Given the description of an element on the screen output the (x, y) to click on. 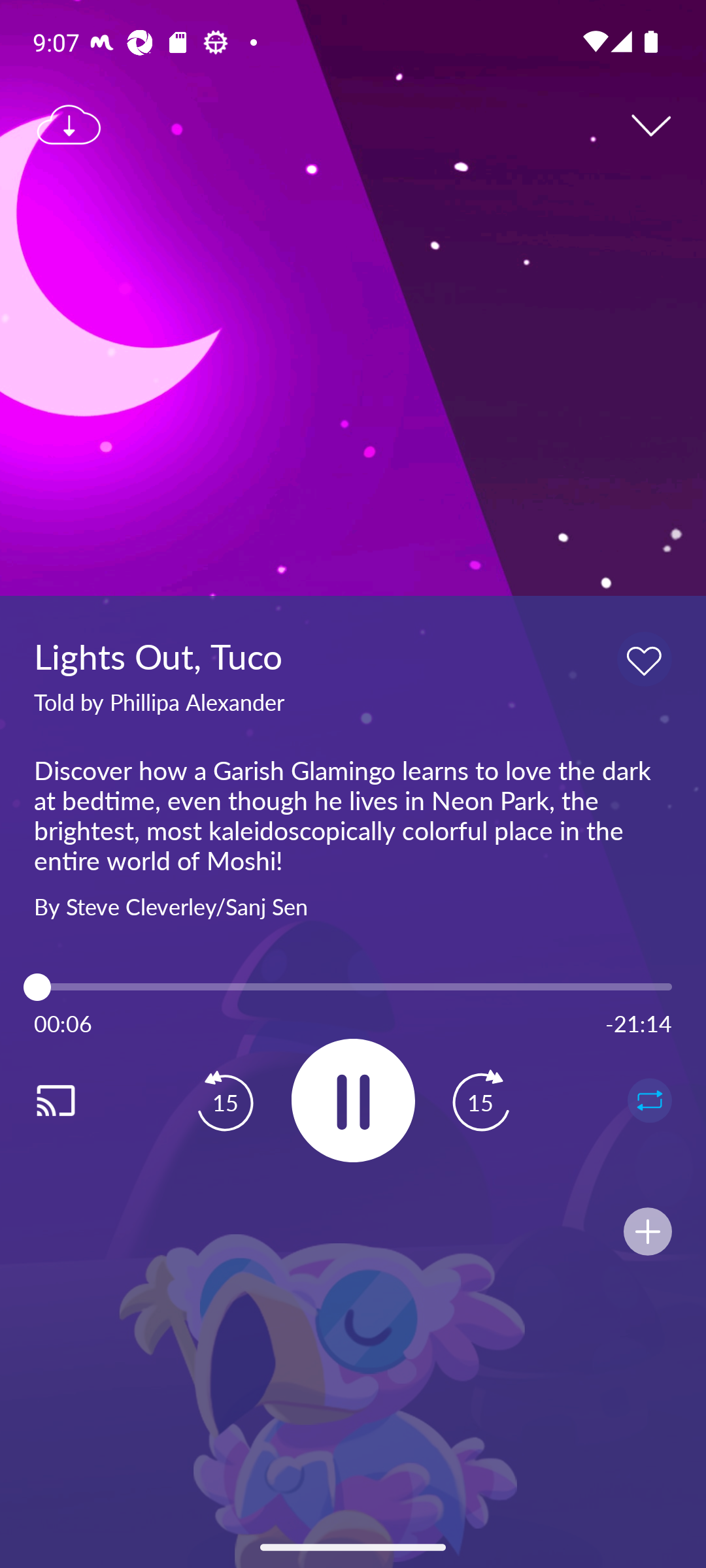
6.0 (352, 986)
Cast. Disconnected (76, 1100)
